Given the description of an element on the screen output the (x, y) to click on. 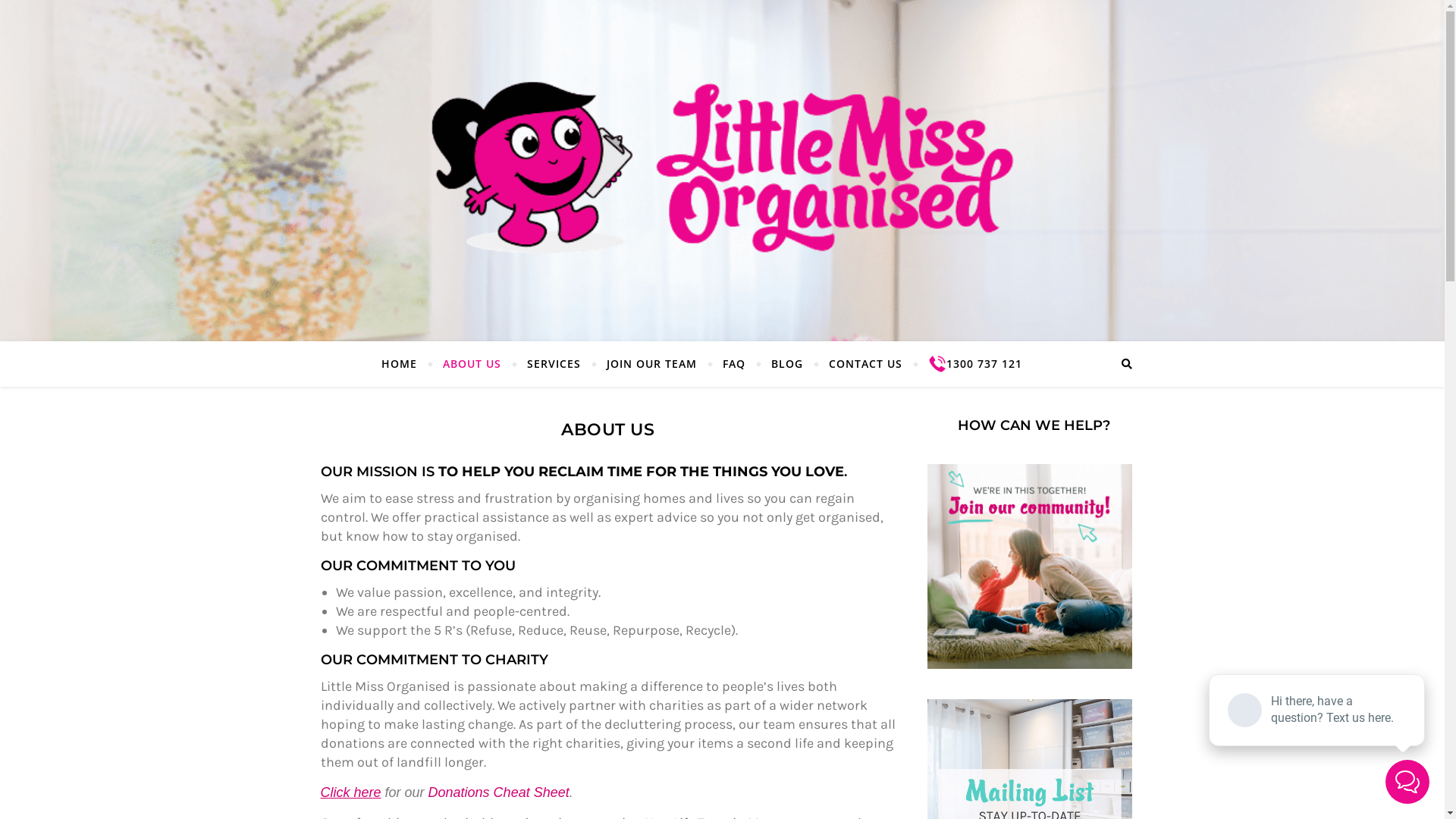
JOIN OUR TEAM Element type: text (651, 363)
SERVICES Element type: text (553, 363)
HOME Element type: text (404, 363)
Click here Element type: text (350, 792)
ABOUT US Element type: text (471, 363)
1300 737 121 Element type: text (967, 363)
CONTACT US Element type: text (865, 363)
FAQ Element type: text (733, 363)
BLOG Element type: text (786, 363)
